Given the description of an element on the screen output the (x, y) to click on. 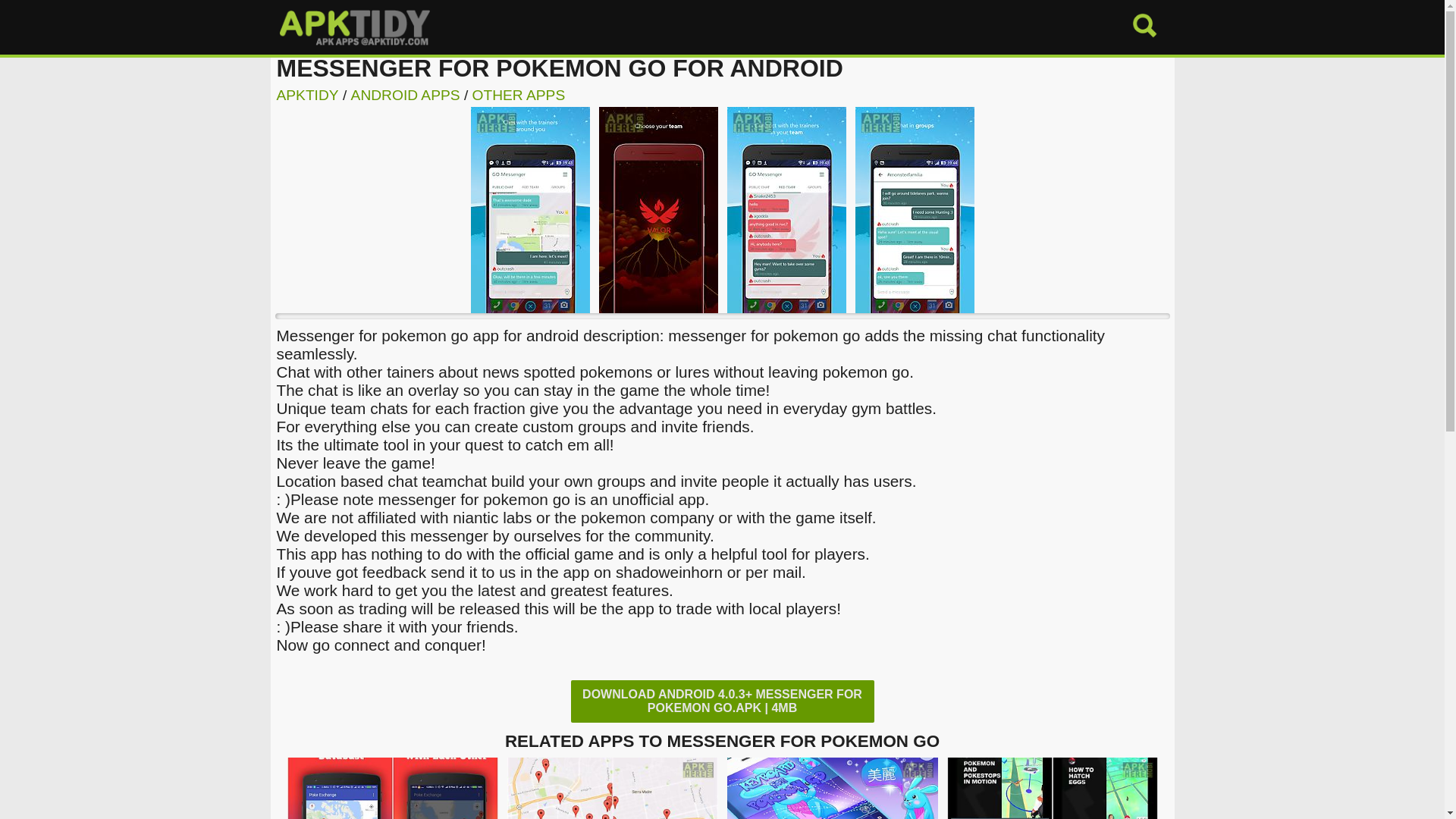
ANDROID APPS (405, 94)
APKTIDY (306, 94)
